Given the description of an element on the screen output the (x, y) to click on. 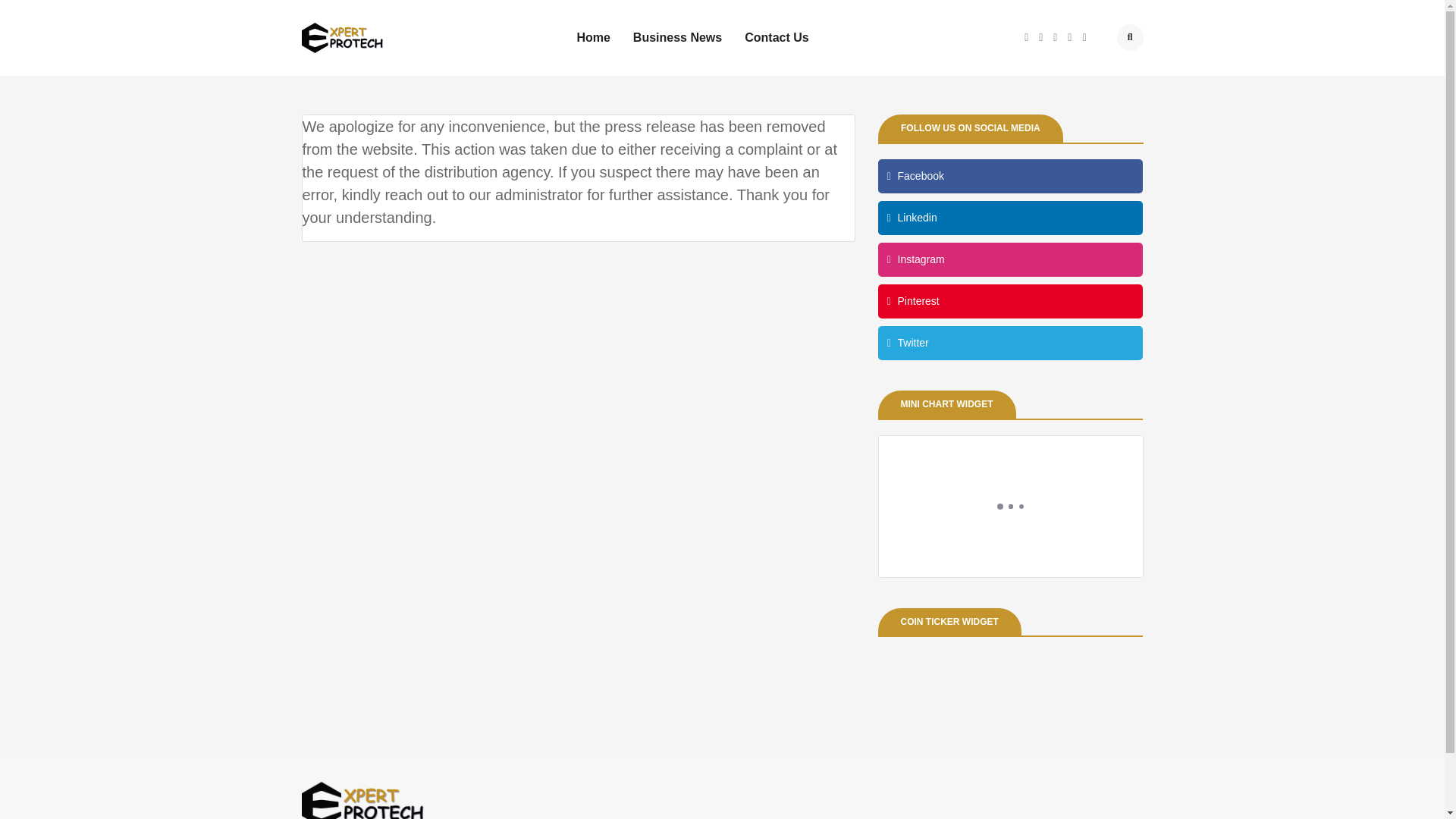
Business News (677, 37)
Facebook (1009, 175)
Twitter (1009, 342)
Pinterest (1009, 301)
Linkedin (1009, 217)
Contact Us (776, 37)
Home (593, 37)
mini symbol-overview TradingView widget (1009, 506)
Instagram (1009, 259)
